Given the description of an element on the screen output the (x, y) to click on. 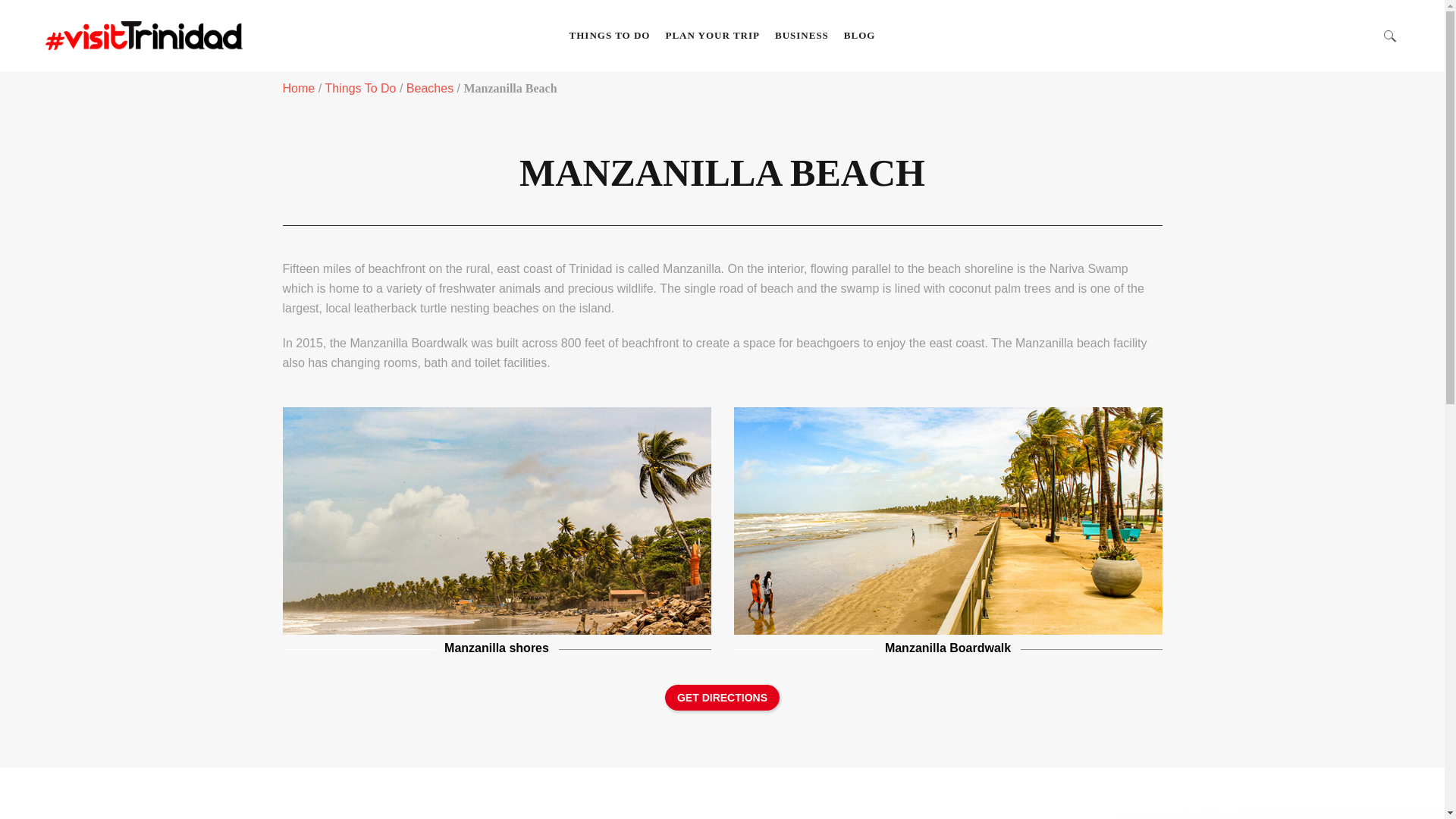
PLAN YOUR TRIP (712, 35)
BUSINESS (801, 35)
BLOG (859, 35)
THINGS TO DO (610, 35)
